Given the description of an element on the screen output the (x, y) to click on. 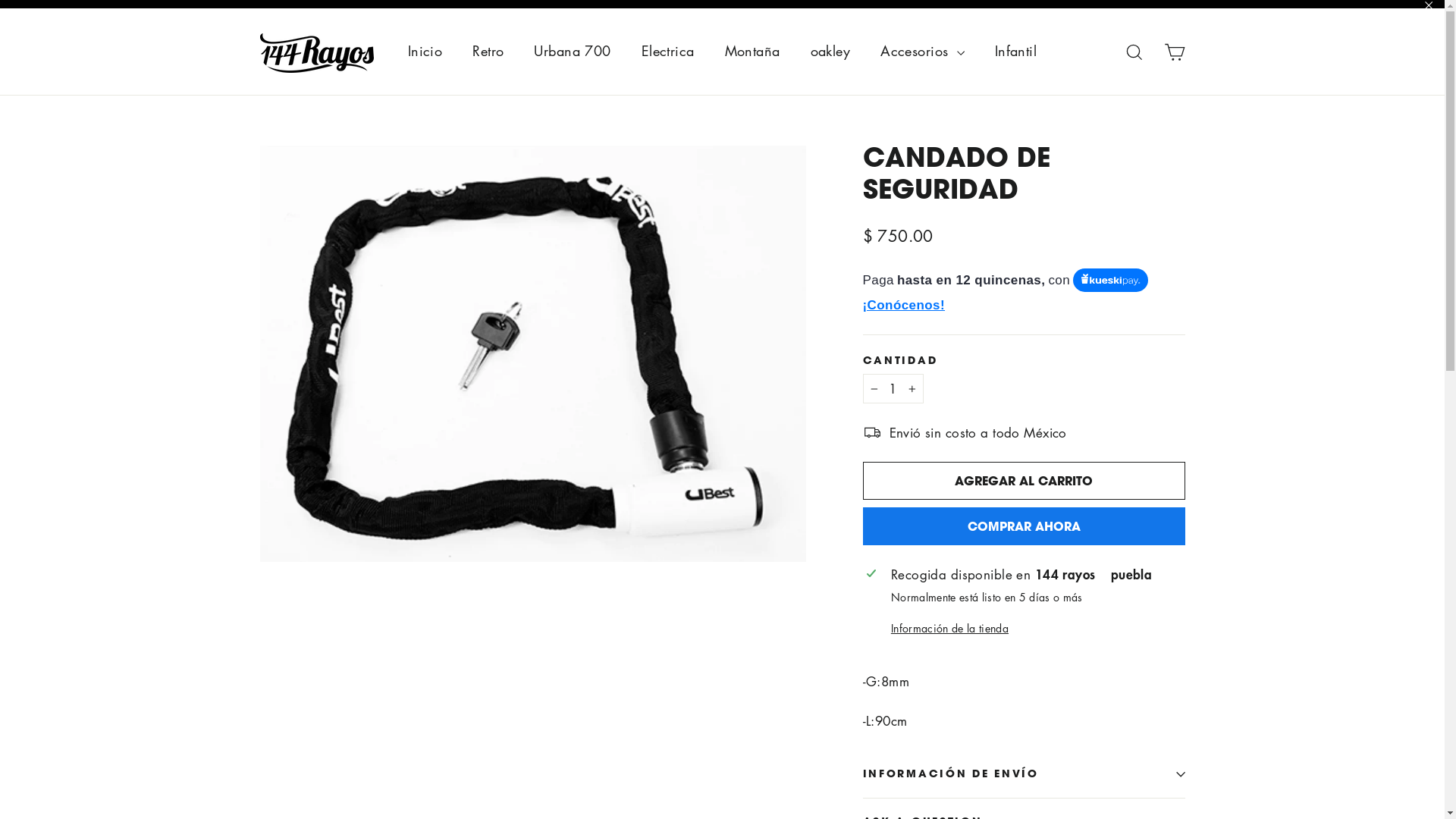
icon-cart
Carrito Element type: text (1173, 51)
COMPRAR AHORA Element type: text (1023, 526)
AGREGAR AL CARRITO Element type: text (1023, 480)
Infantil Element type: text (1015, 50)
icon-search
Buscar Element type: text (1134, 51)
Electrica Element type: text (667, 50)
+ Element type: text (911, 388)
Urbana 700 Element type: text (571, 50)
Retro Element type: text (487, 50)
Inicio Element type: text (425, 50)
oakley Element type: text (830, 50)
